Given the description of an element on the screen output the (x, y) to click on. 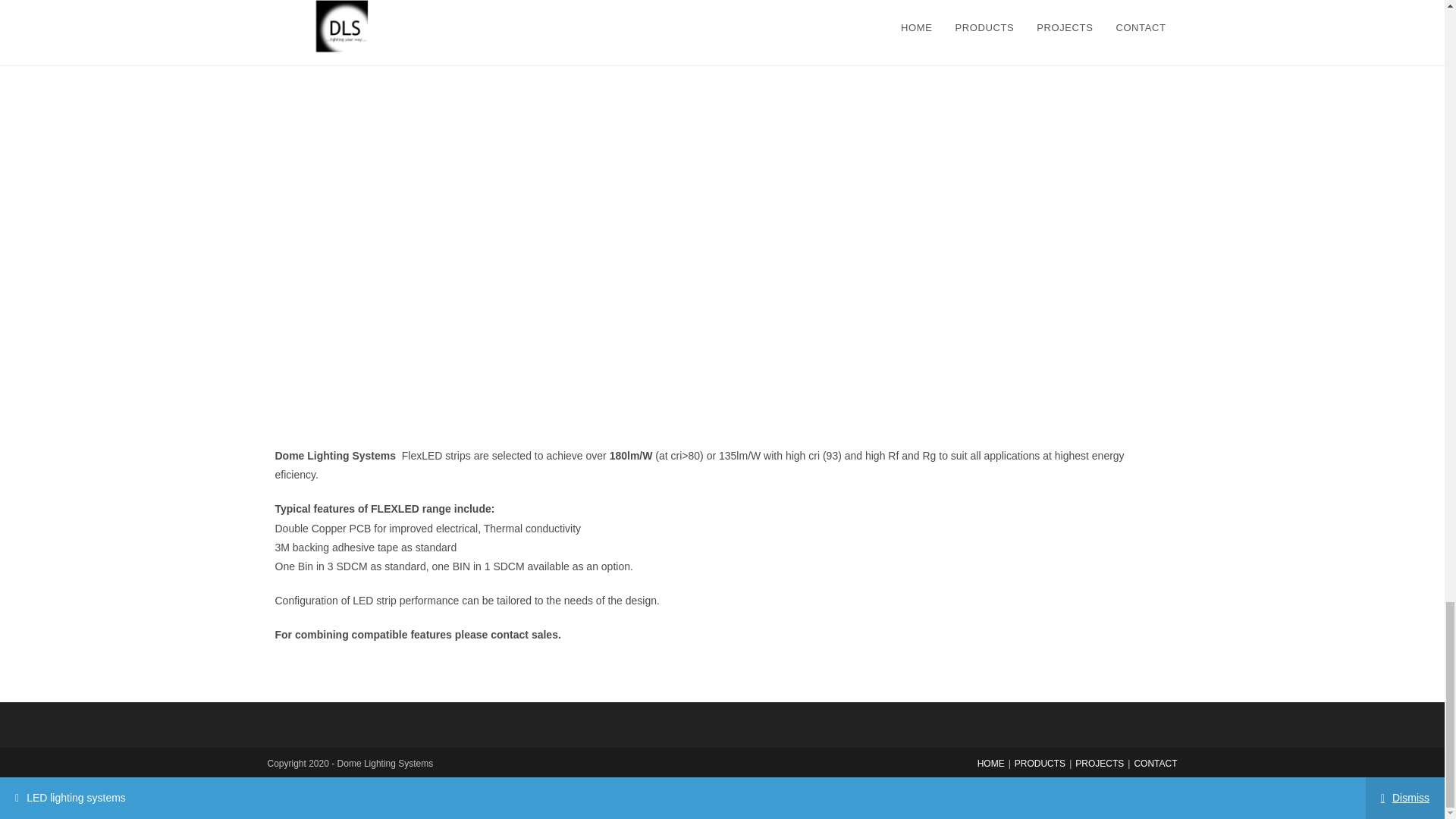
PROJECTS (1099, 763)
PRODUCTS (1039, 763)
CONTACT (1155, 763)
HOME (990, 763)
